Given the description of an element on the screen output the (x, y) to click on. 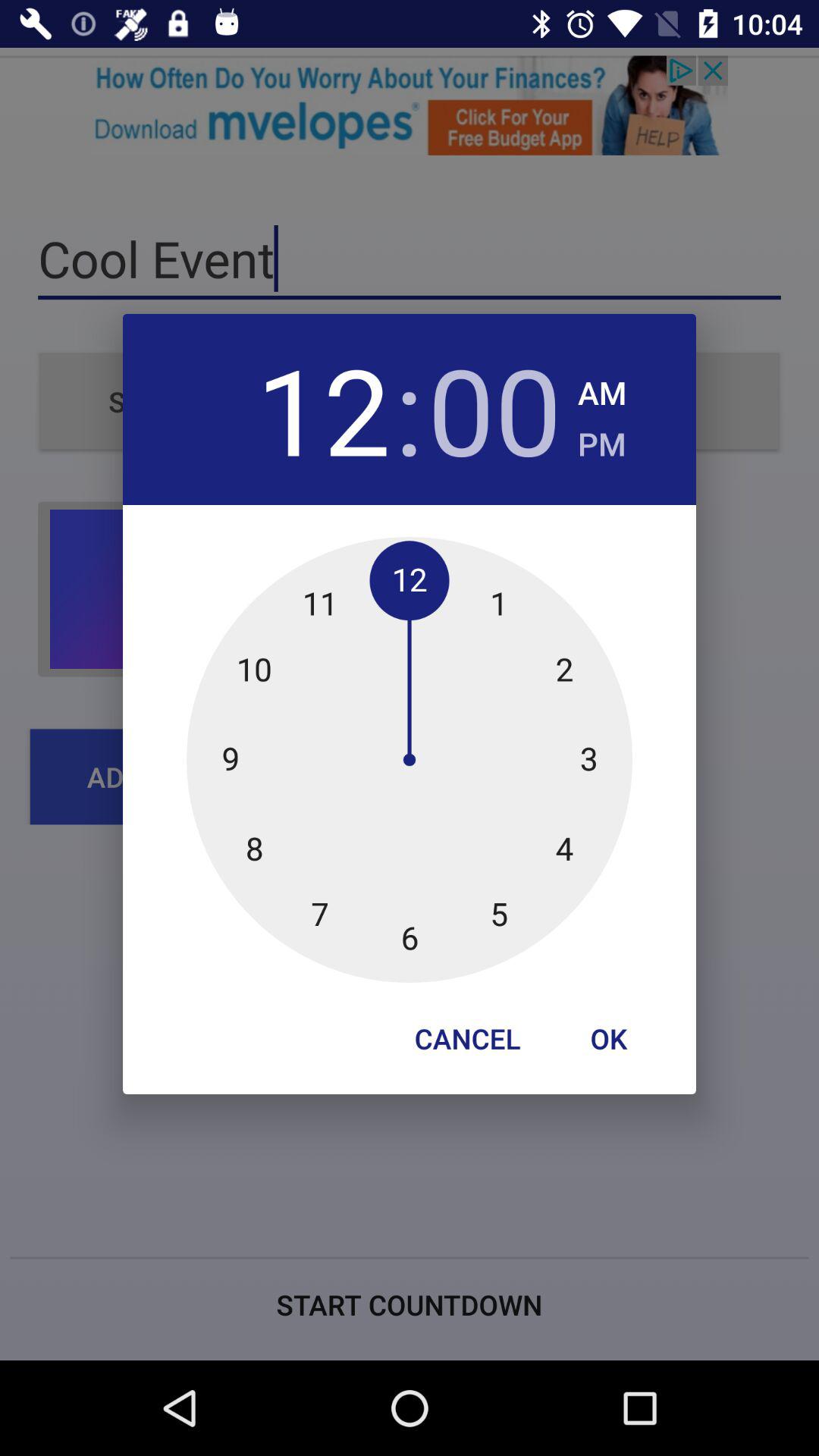
choose the 00 item (494, 408)
